Given the description of an element on the screen output the (x, y) to click on. 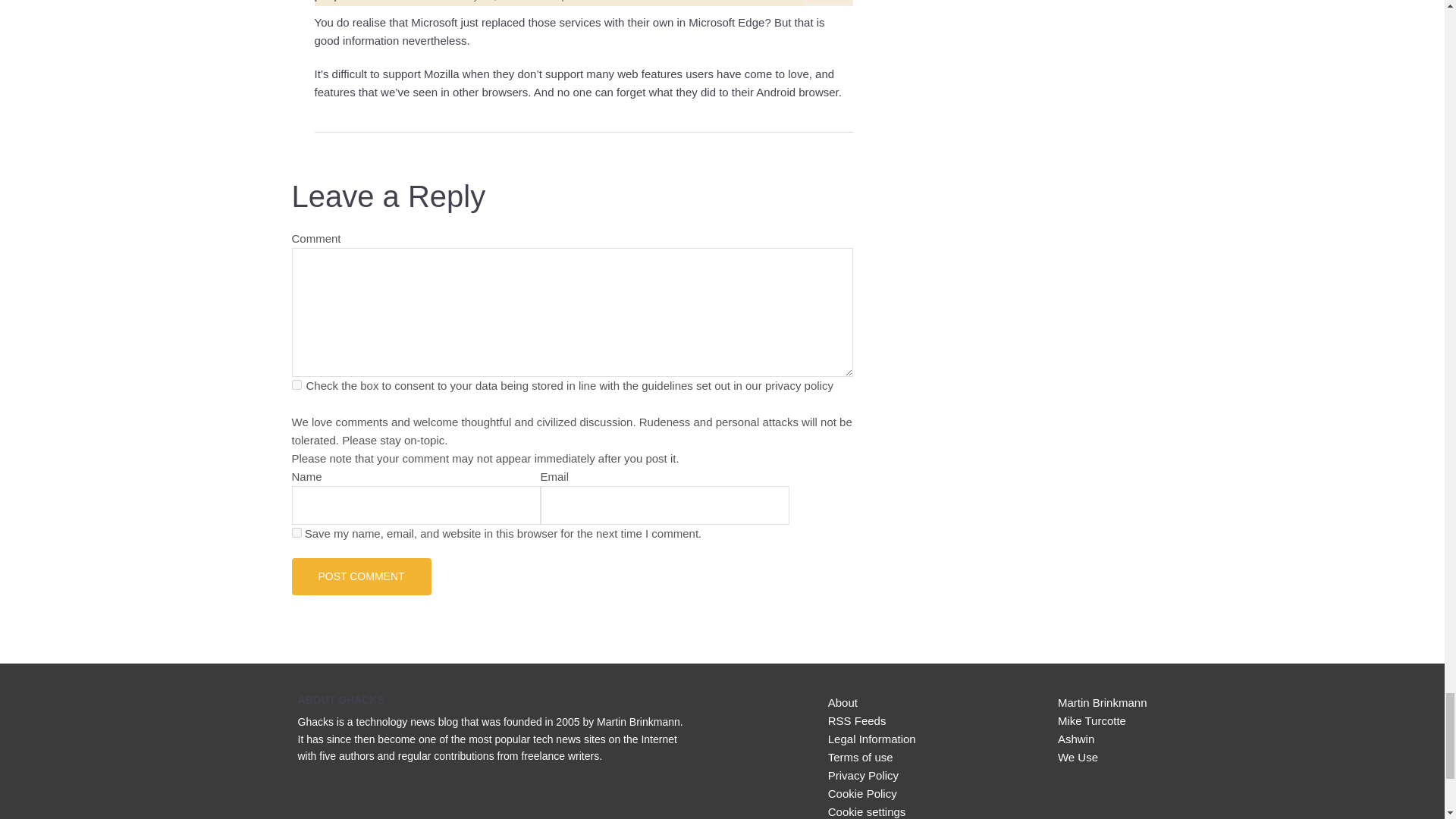
Post Comment (360, 575)
privacy-key (296, 384)
yes (296, 532)
